Given the description of an element on the screen output the (x, y) to click on. 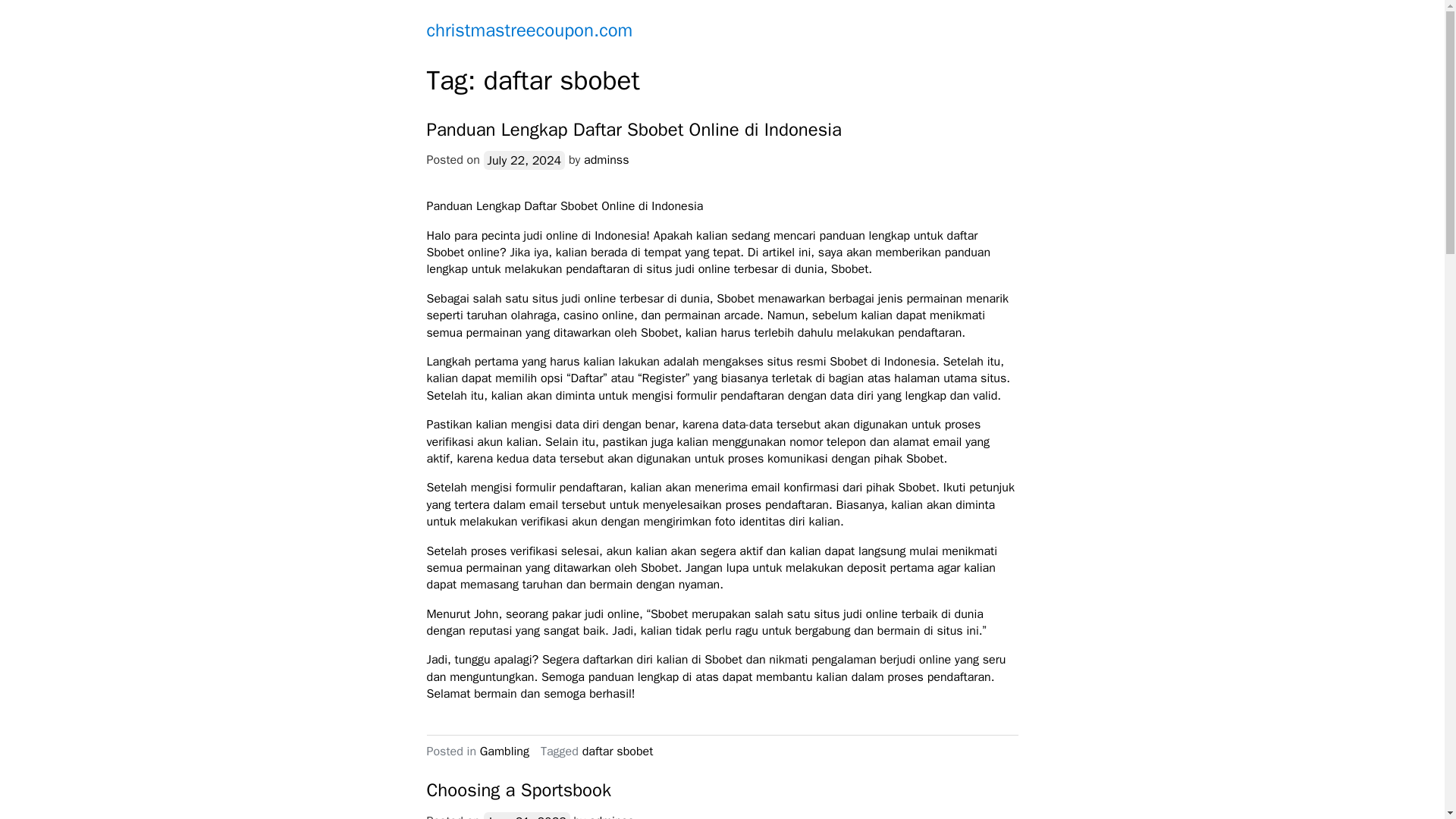
July 22, 2024 (524, 159)
Gambling (504, 751)
June 21, 2023 (526, 815)
